Given the description of an element on the screen output the (x, y) to click on. 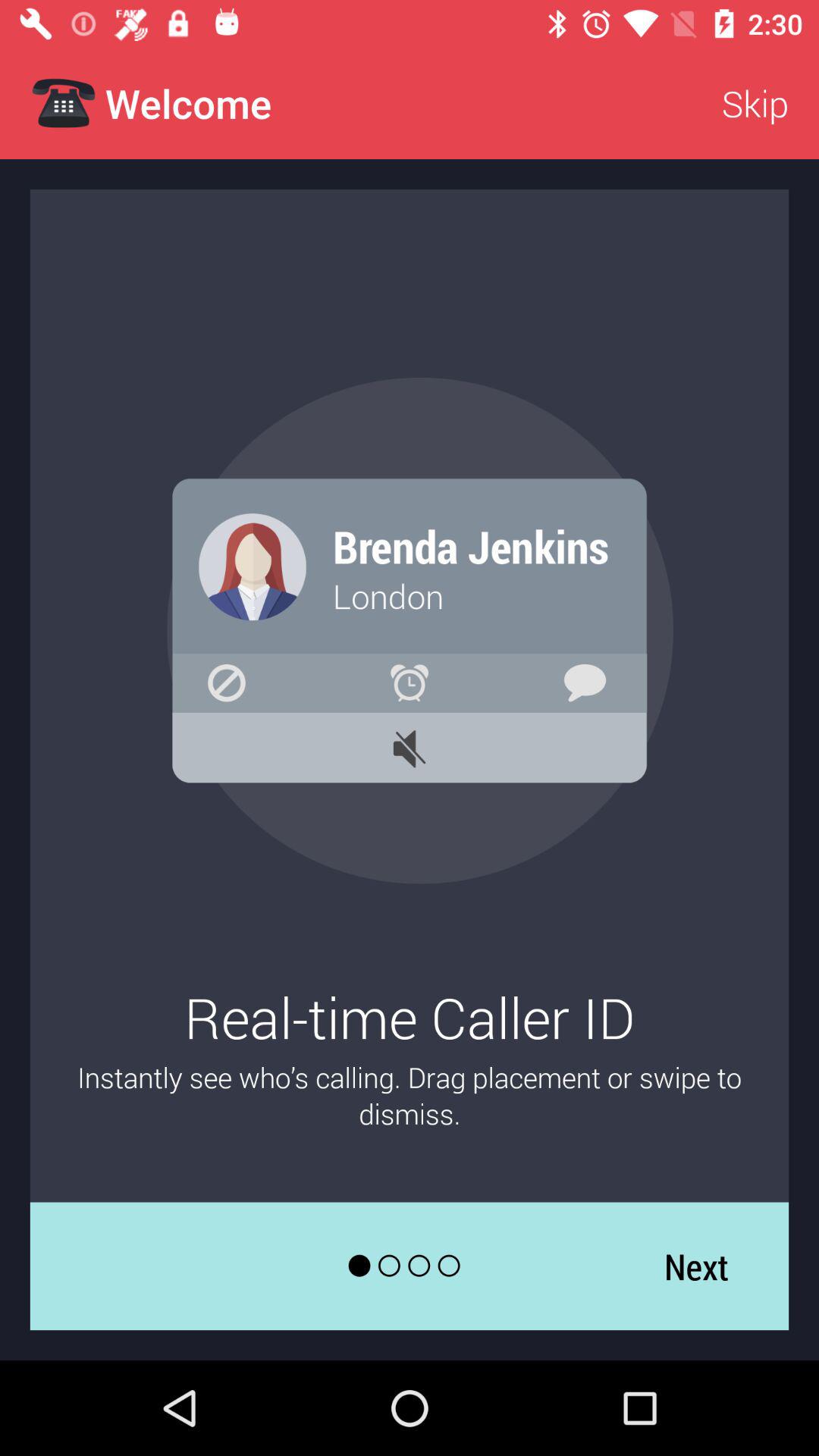
click the next at the bottom right corner (696, 1266)
